Given the description of an element on the screen output the (x, y) to click on. 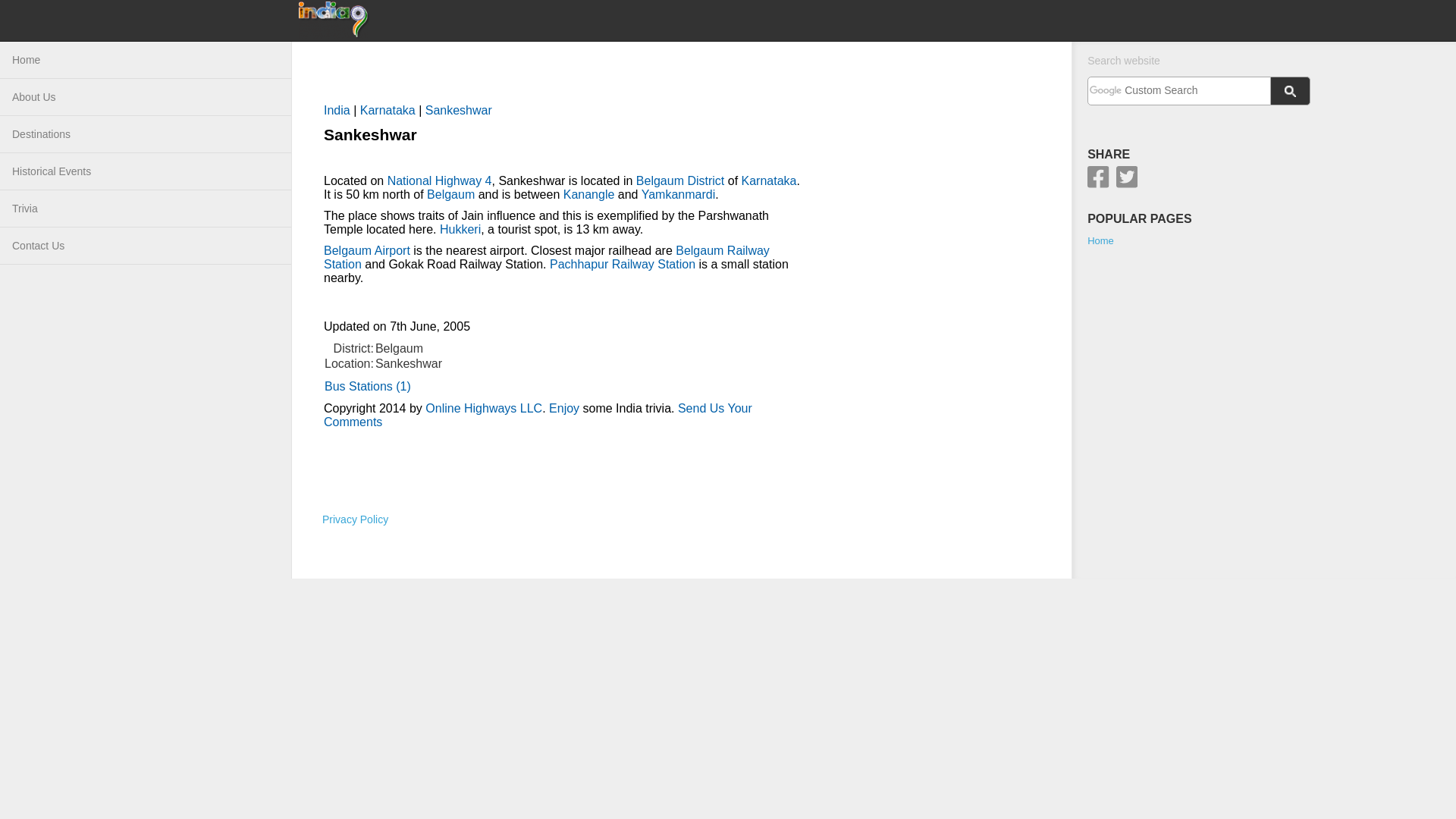
Sankeshwar (458, 110)
Send Us Your Comments (537, 415)
National Highway 4 (439, 180)
Belgaum (450, 194)
Belgaum Airport (366, 250)
Trivia (145, 208)
Karnataka (768, 180)
Privacy Policy (354, 519)
Historical Events (145, 171)
Contact Us (145, 245)
Belgaum District (679, 180)
Home (145, 59)
Home (1100, 240)
Hukkeri (459, 228)
Enjoy (563, 408)
